Given the description of an element on the screen output the (x, y) to click on. 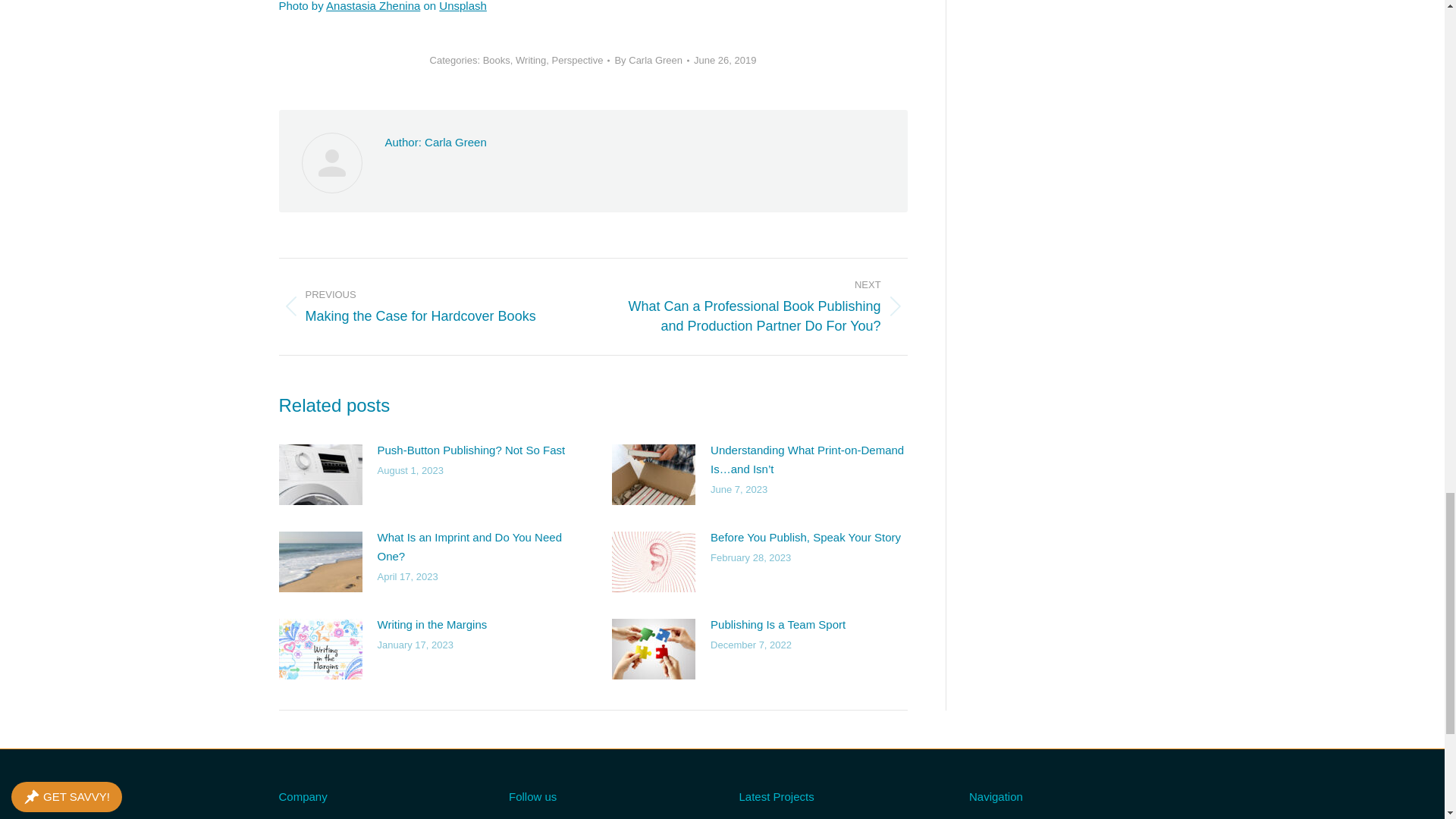
View all posts by Carla Green (651, 60)
7:22 pm (724, 60)
